Given the description of an element on the screen output the (x, y) to click on. 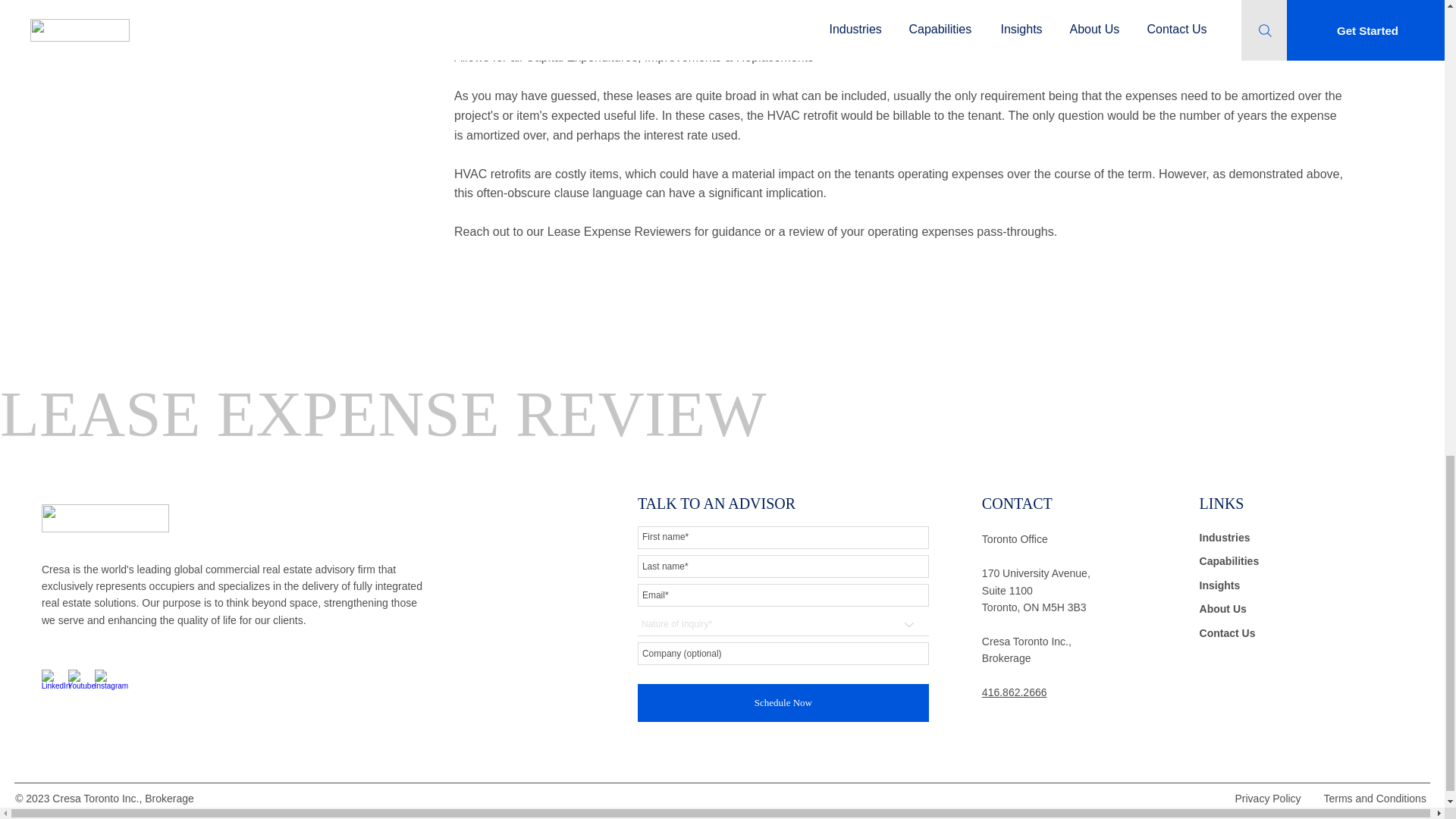
Privacy Policy (1267, 798)
Contact Us (1272, 633)
416.862.2666 (1013, 692)
About Us (1272, 609)
Schedule Now (782, 702)
Terms and Conditions (1374, 798)
